Given the description of an element on the screen output the (x, y) to click on. 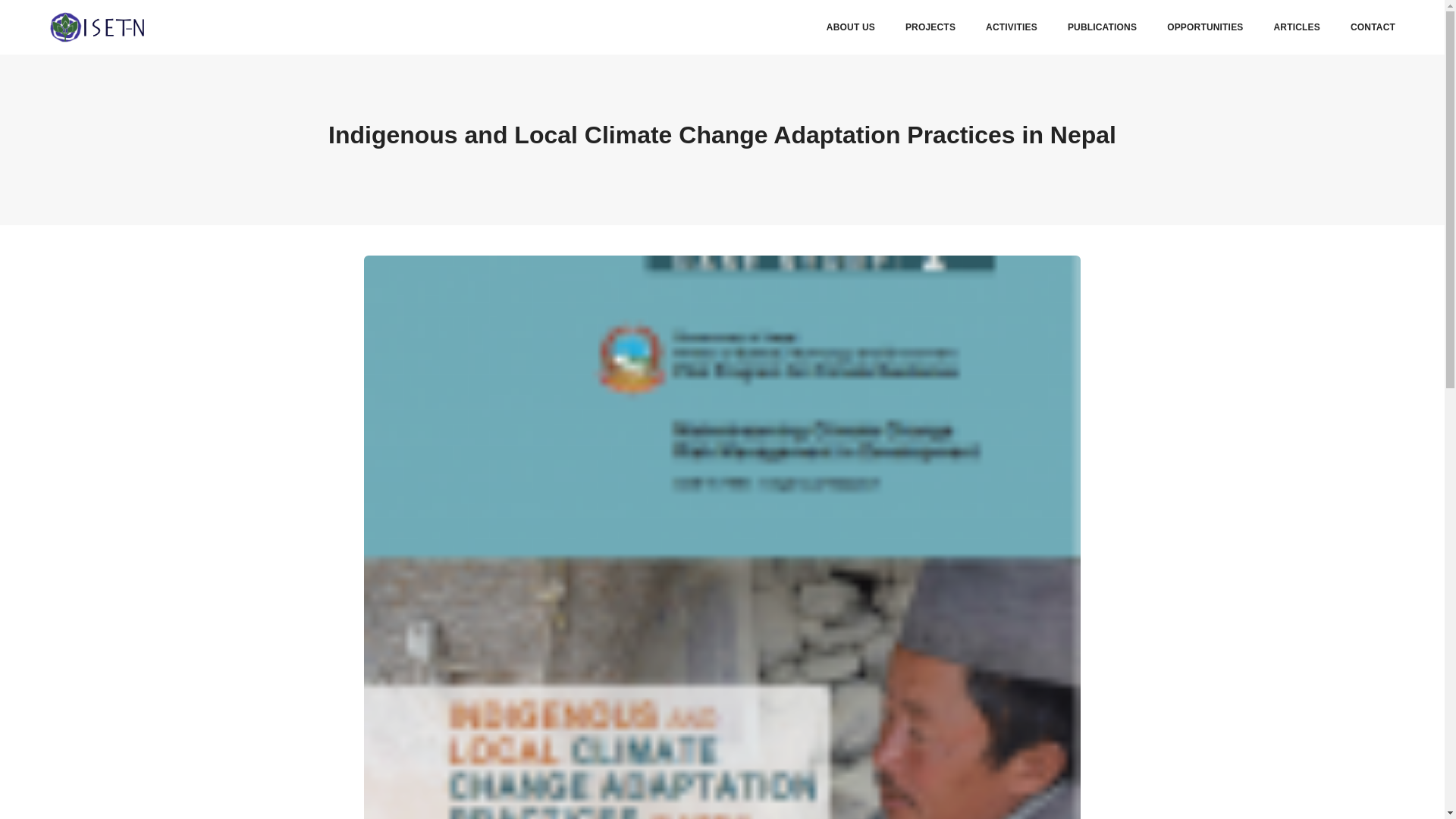
iset nepal (97, 27)
PROJECTS (930, 27)
PUBLICATIONS (1102, 27)
ACTIVITIES (1010, 27)
OPPORTUNITIES (1205, 27)
